Given the description of an element on the screen output the (x, y) to click on. 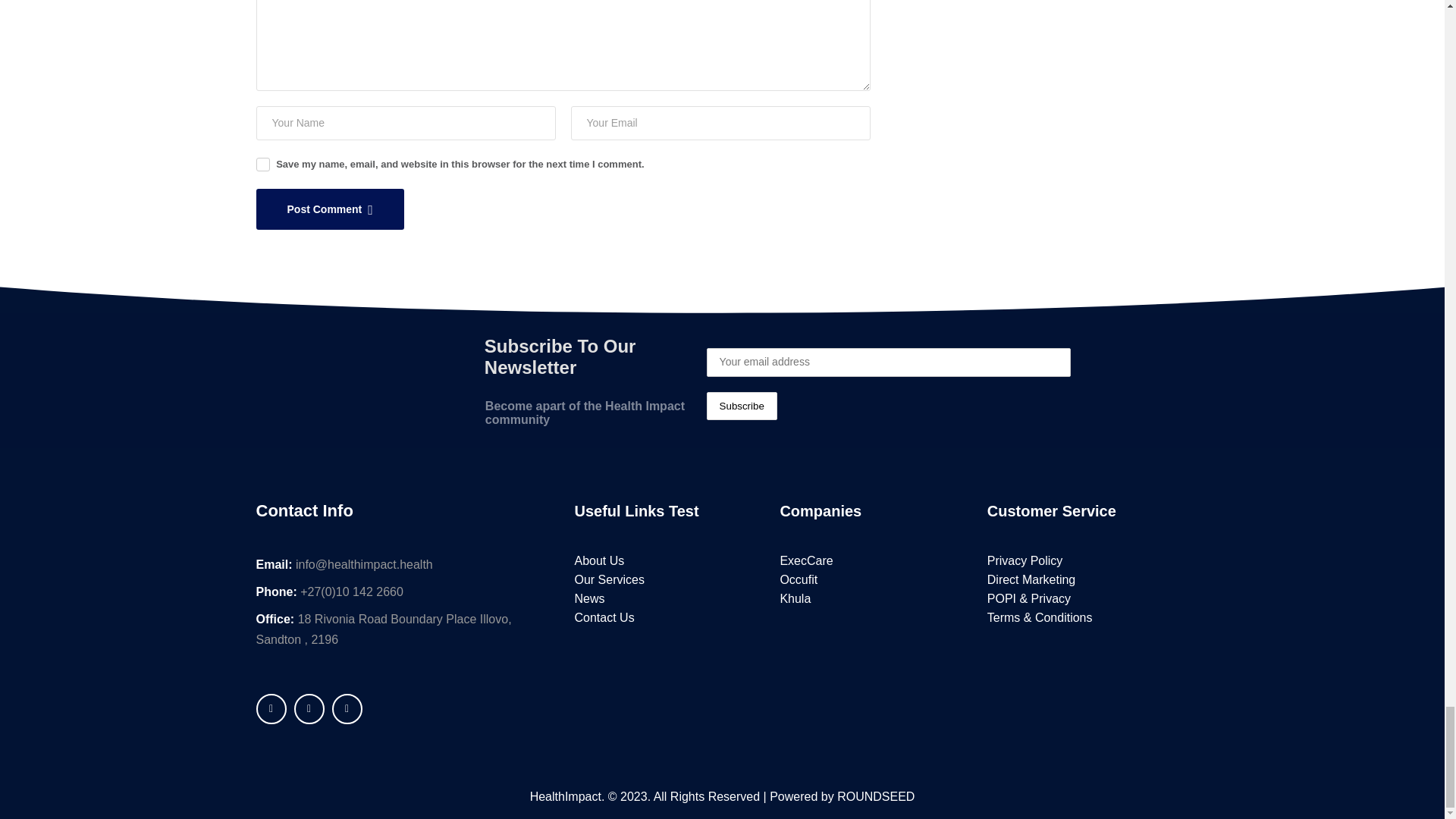
Subscribe (741, 406)
yes (262, 164)
